Given the description of an element on the screen output the (x, y) to click on. 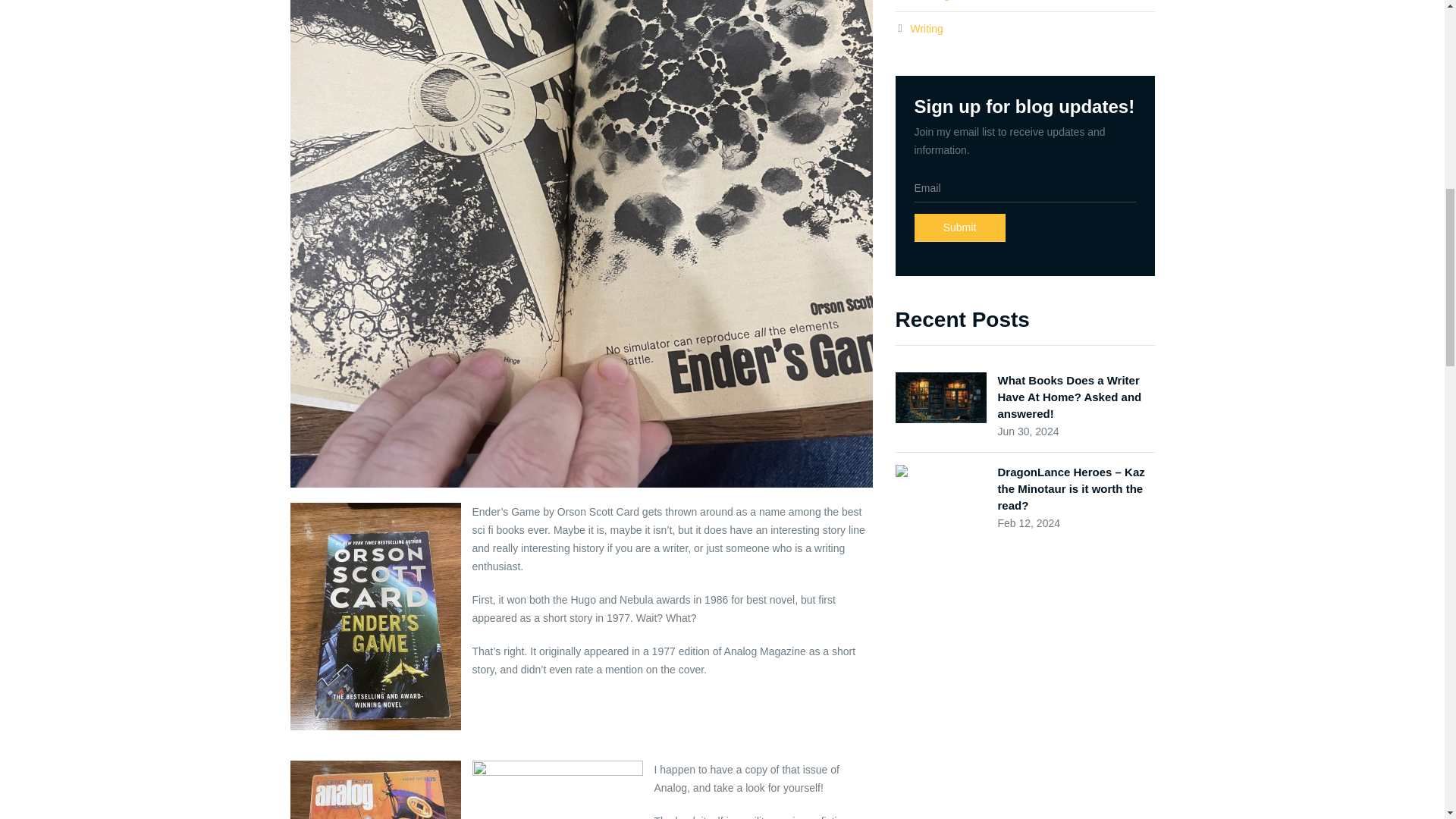
Writing (926, 28)
What Books Does a Writer Have At Home? Asked and answered! (1069, 396)
Submit (960, 227)
Uncategorized (944, 0)
Submit (960, 227)
